Given the description of an element on the screen output the (x, y) to click on. 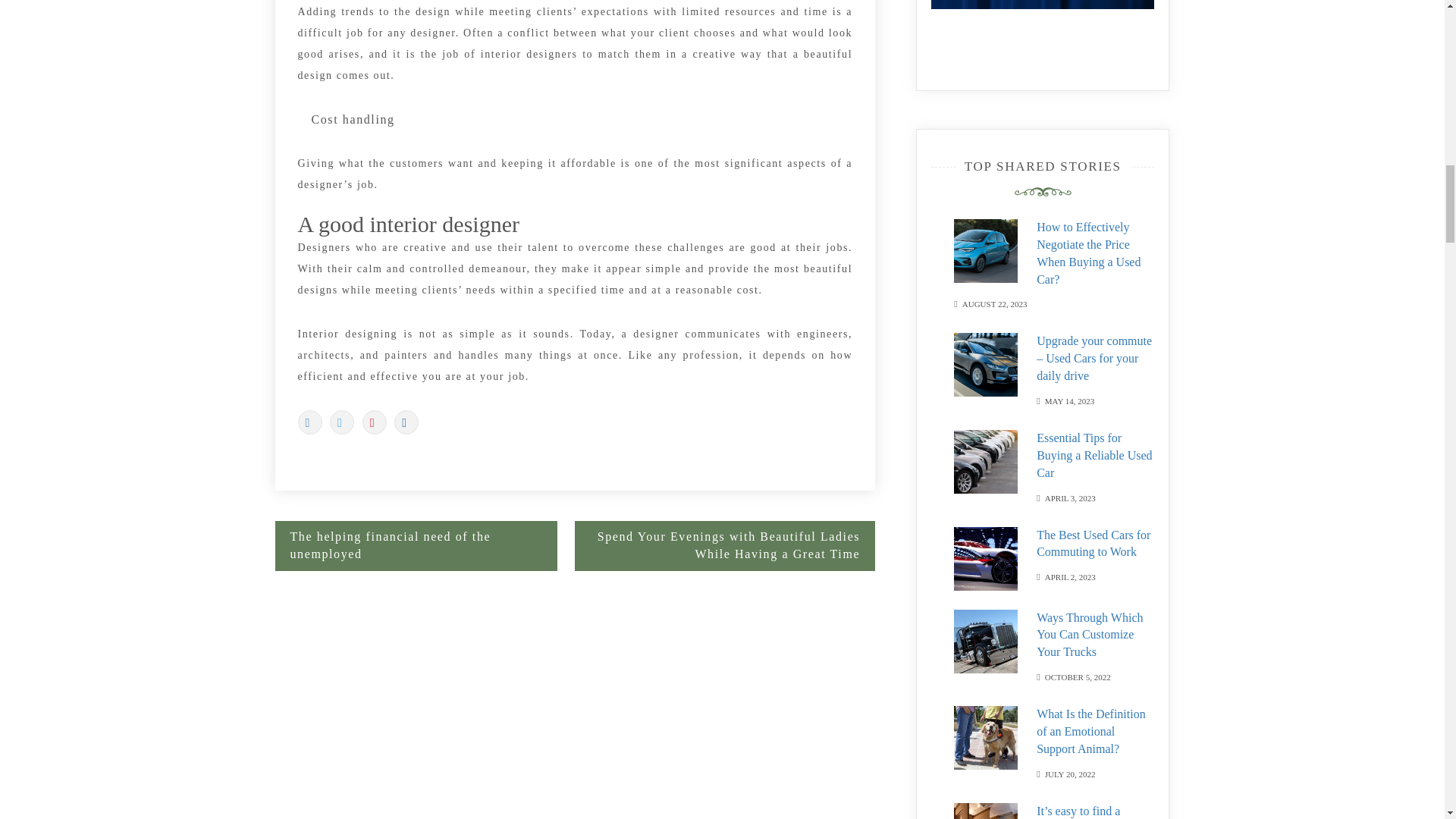
What Is the Definition of an Emotional Support Animal? (1090, 731)
The helping financial need of the unemployed (415, 545)
APRIL 2, 2023 (1070, 575)
Ways Through Which You Can Customize Your Trucks (1089, 634)
AUGUST 22, 2023 (994, 302)
OCTOBER 5, 2022 (1077, 675)
The Best Used Cars for Commuting to Work (1093, 543)
MAY 14, 2023 (1069, 399)
APRIL 3, 2023 (1070, 496)
JULY 20, 2022 (1070, 772)
Essential Tips for Buying a Reliable Used Car (1093, 455)
